Given the description of an element on the screen output the (x, y) to click on. 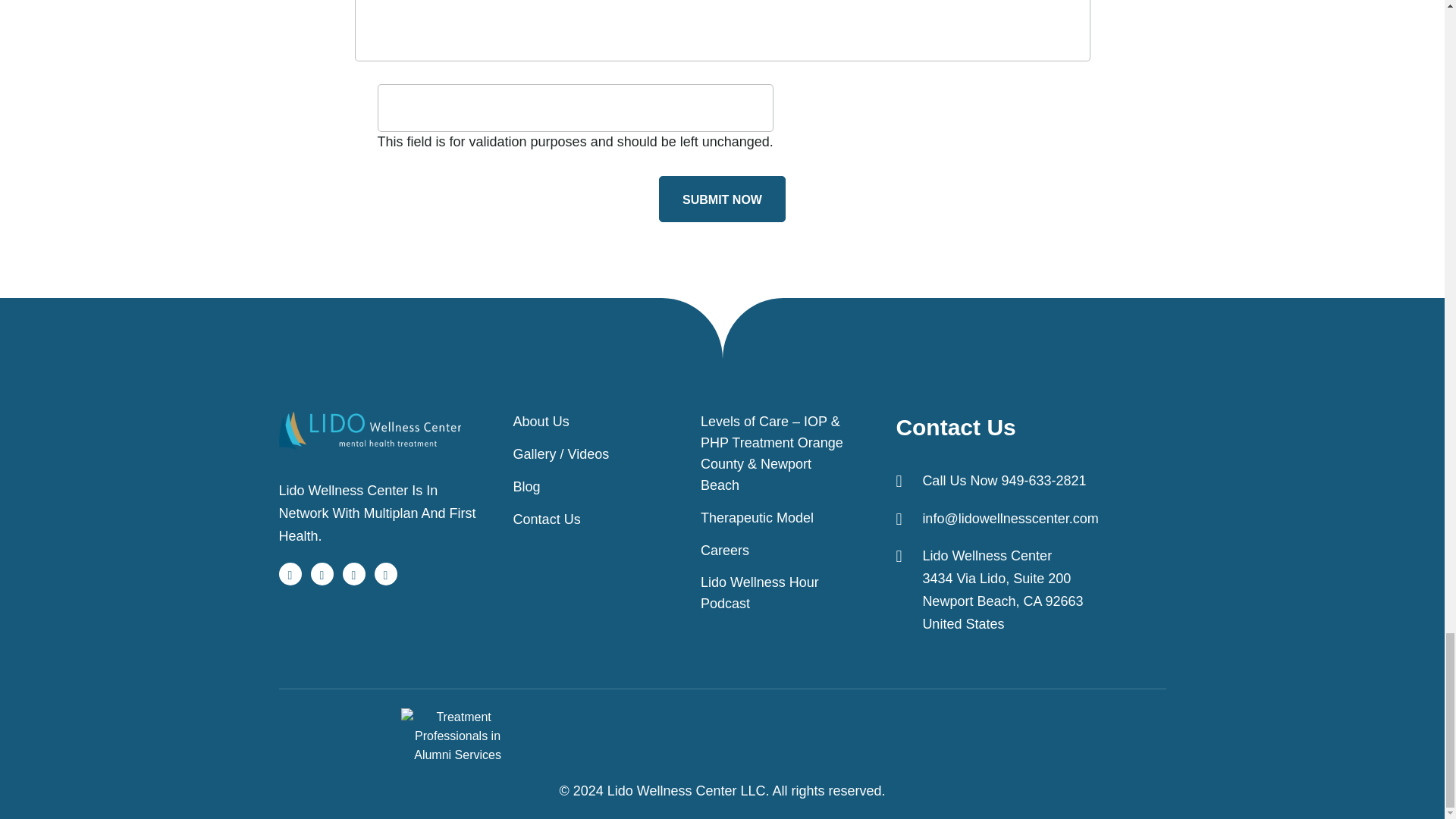
Instagram (353, 573)
Linkedin (322, 573)
About Us (541, 421)
Lido Wellness Center (370, 430)
Mail Us (1009, 518)
Submit Now (722, 198)
Call Us Now (1003, 480)
Youtube (385, 573)
Facebook (290, 573)
